Given the description of an element on the screen output the (x, y) to click on. 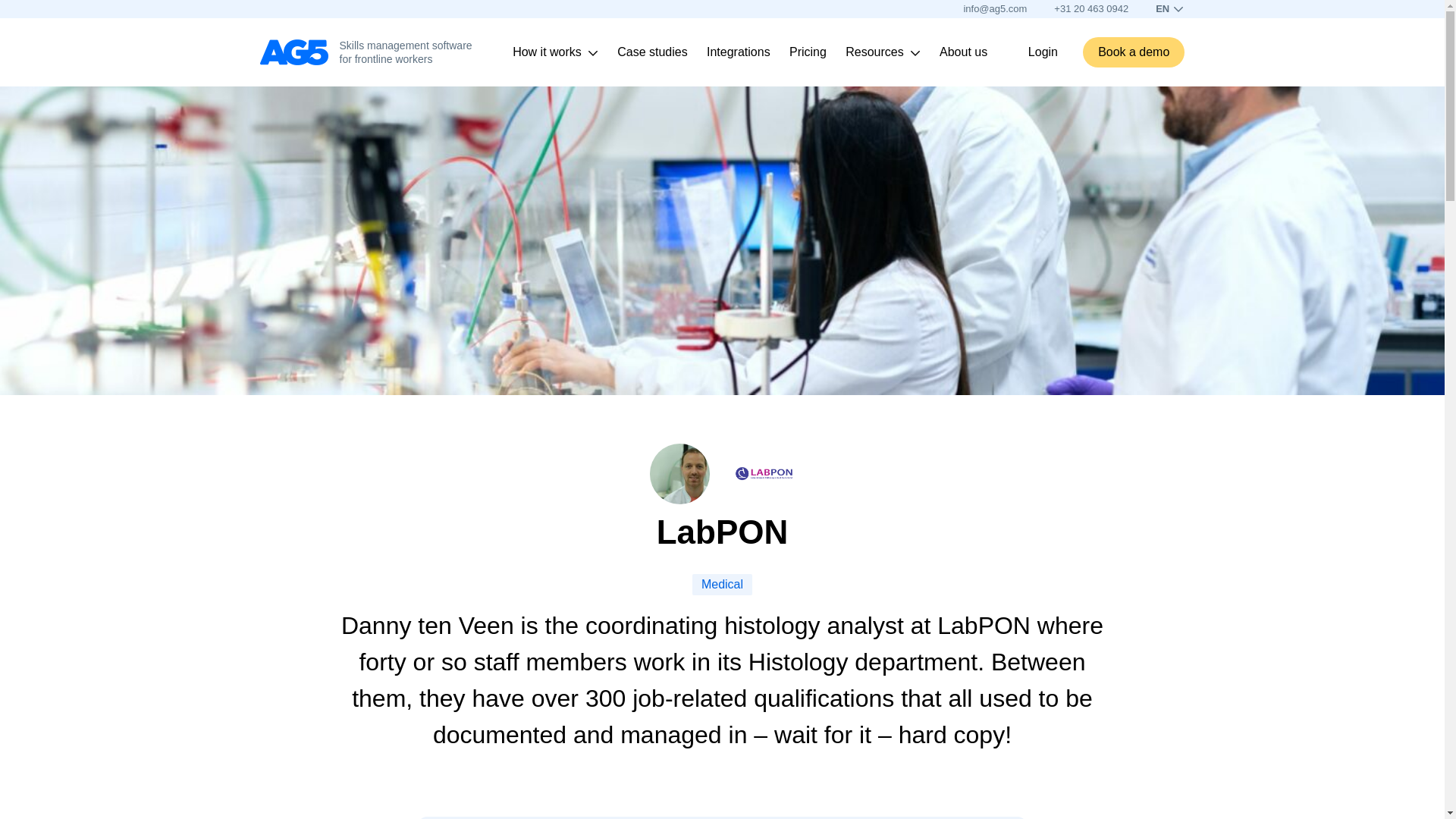
Login (1042, 52)
Book a demo (1134, 51)
Skills management software for frontline workers (369, 52)
About us (975, 52)
Case studies (652, 52)
Integrations (737, 52)
